Given the description of an element on the screen output the (x, y) to click on. 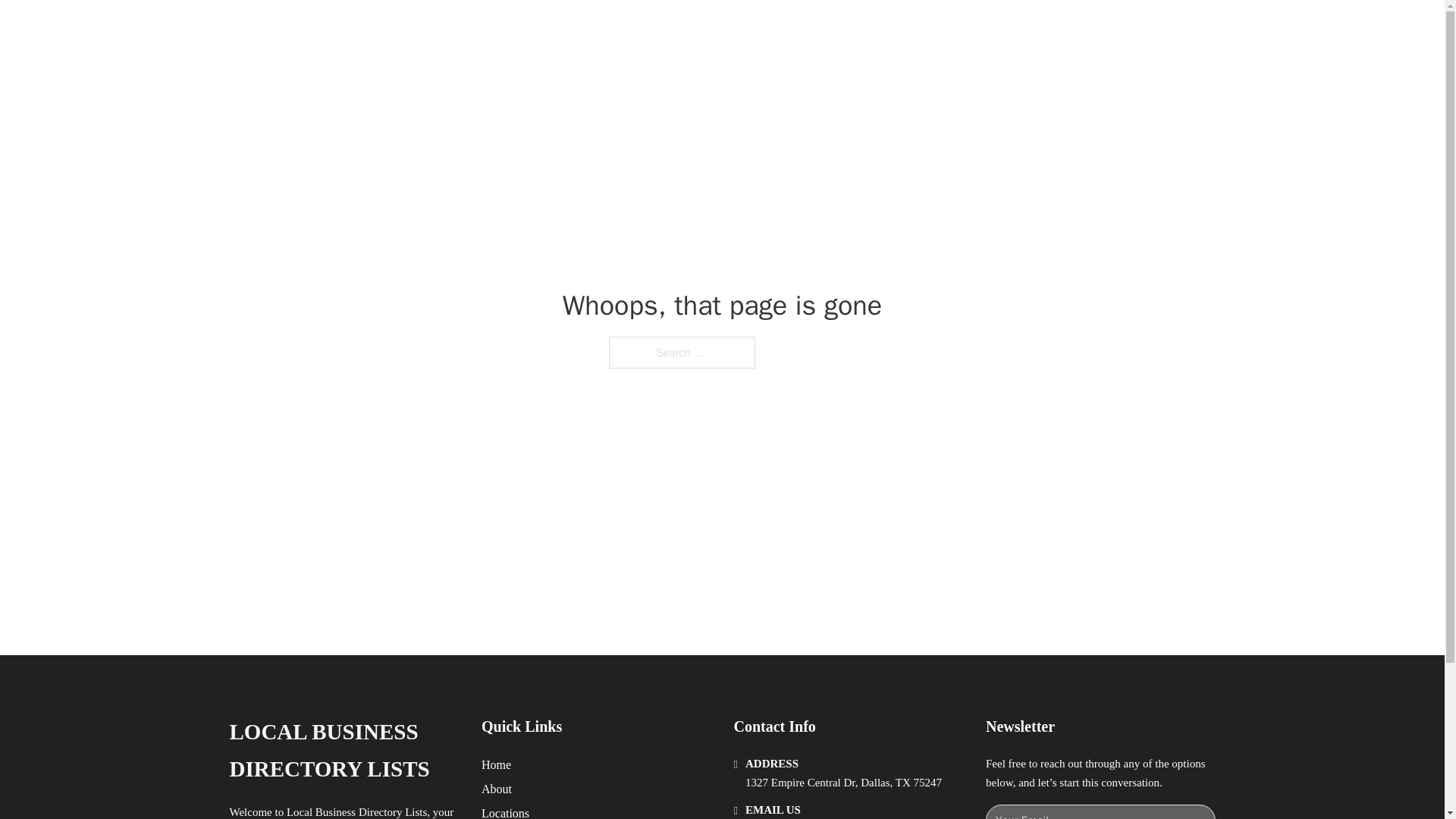
LOCATIONS (990, 29)
HOME (919, 29)
Locations (505, 811)
LOCAL BUSINESS DIRECTORY LISTS (343, 750)
About (496, 788)
LOCAL BUSINESS DIRECTORY LISTS (482, 28)
Home (496, 764)
